Given the description of an element on the screen output the (x, y) to click on. 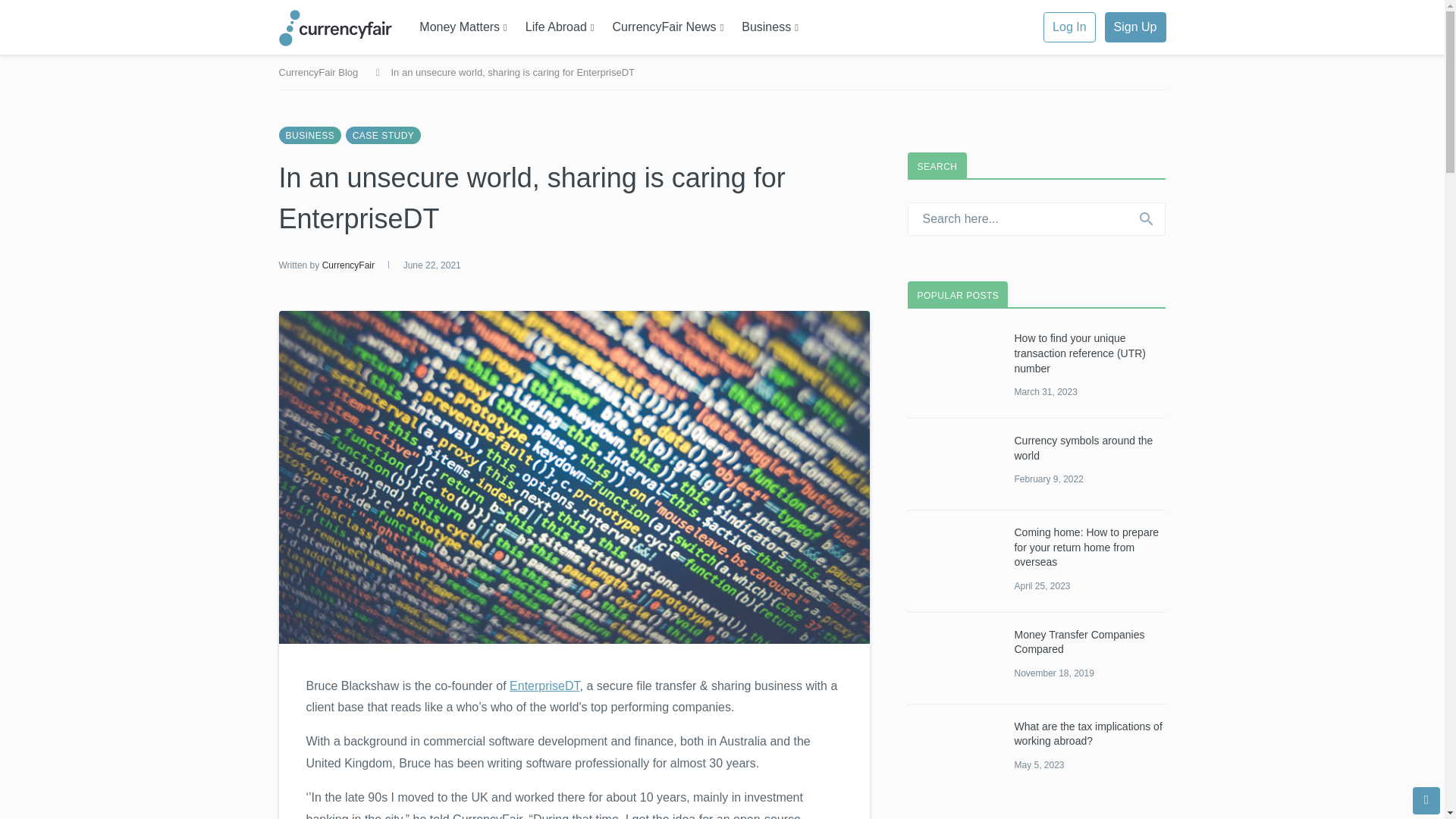
Life Abroad (560, 27)
Currency symbols around the world (952, 464)
What are the tax implications of working abroad? (952, 749)
Money Transfer Companies Compared (952, 658)
Money Matters (463, 27)
CurrencyFair News (668, 27)
currencyfair (344, 27)
submit (1145, 219)
